Given the description of an element on the screen output the (x, y) to click on. 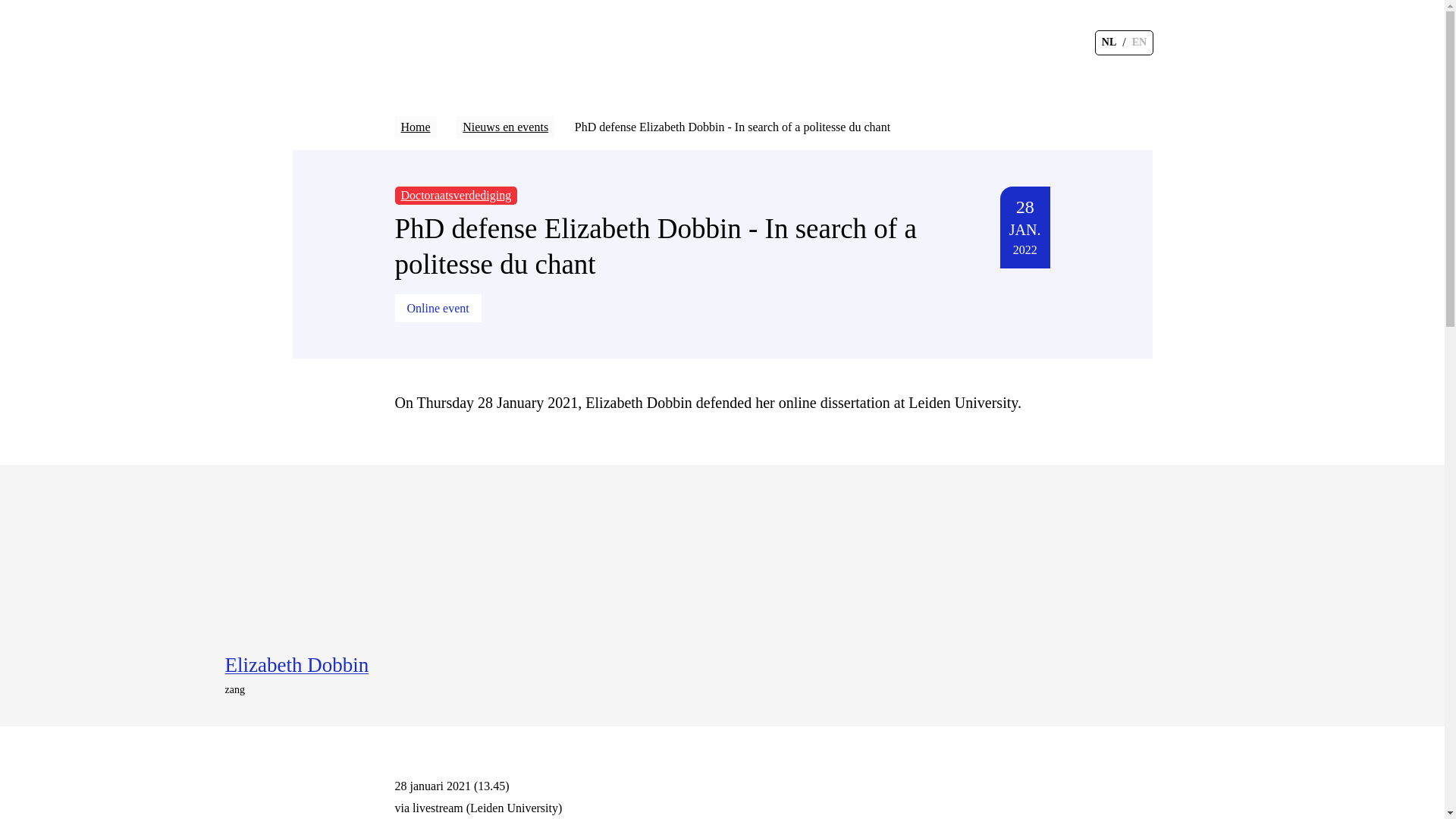
EN (1139, 42)
Doctoraatsverdediging (455, 195)
NL (1109, 42)
Nieuws en events (505, 127)
Home (414, 127)
